Given the description of an element on the screen output the (x, y) to click on. 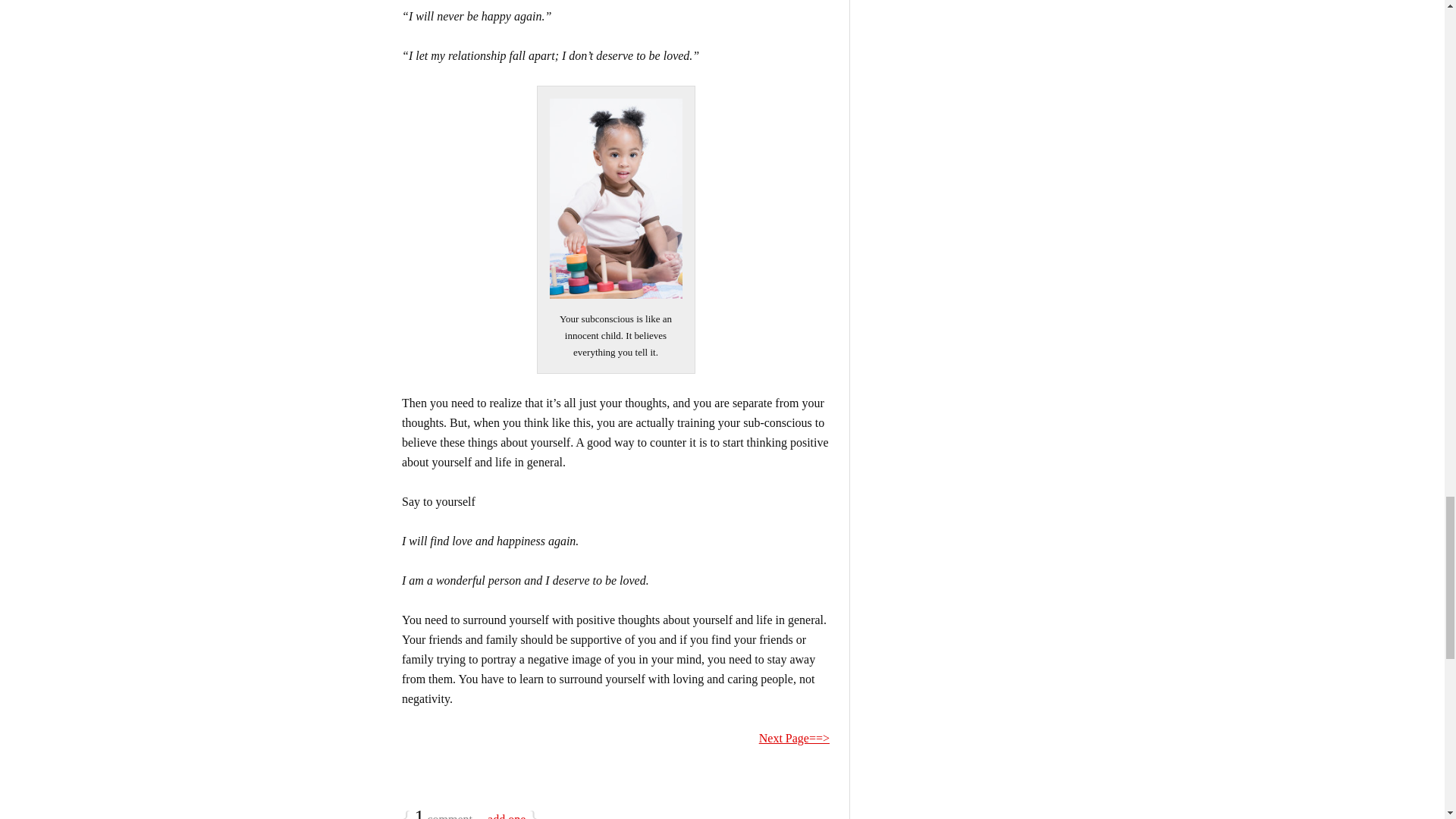
add one (506, 816)
